Given the description of an element on the screen output the (x, y) to click on. 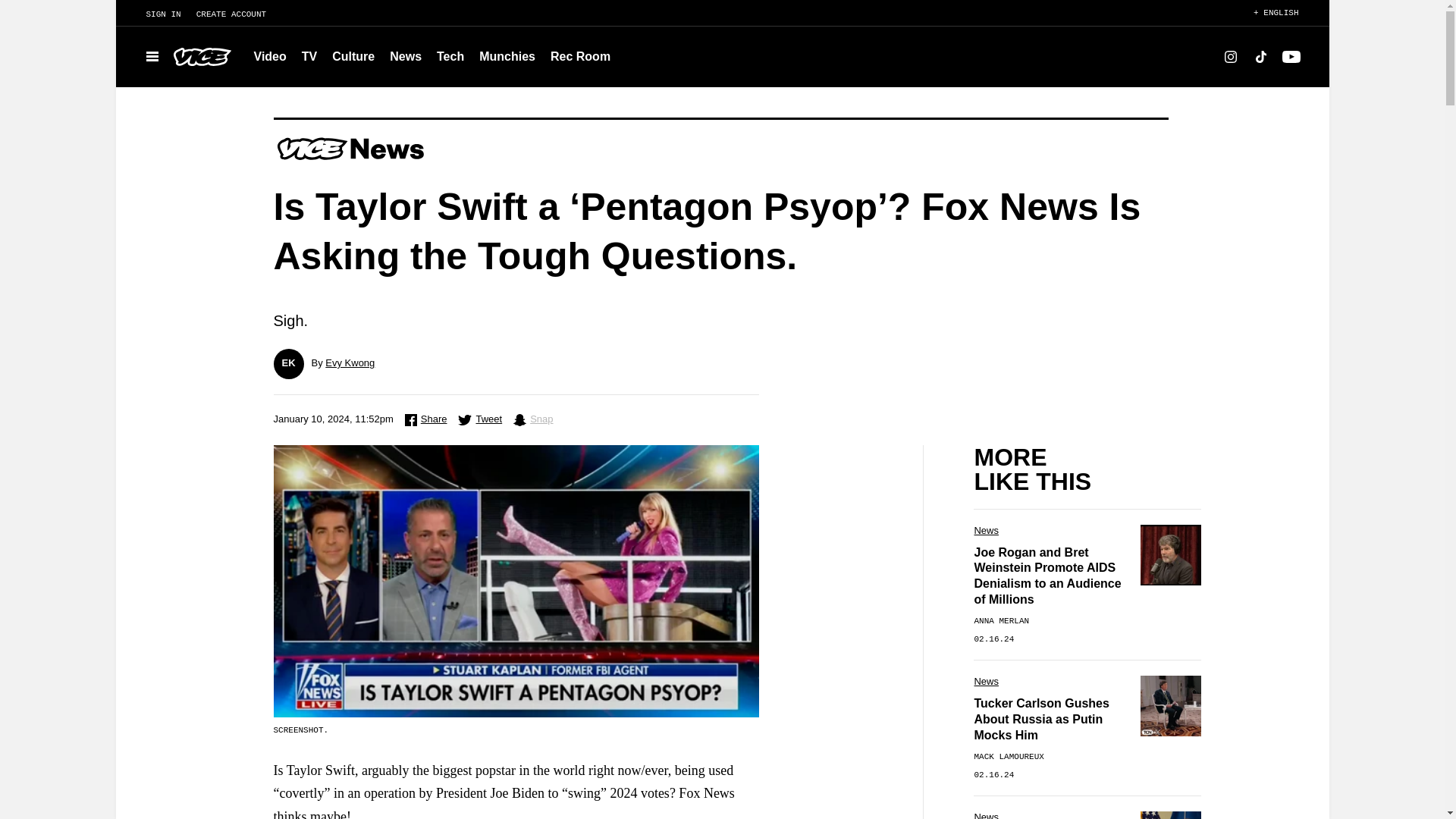
Tech (450, 56)
CREATE ACCOUNT (238, 13)
Munchies (507, 56)
News (405, 56)
Rec Room (580, 56)
Culture (352, 56)
TV (309, 56)
SIGN IN (155, 13)
Video (270, 56)
Share on Snapchat (533, 419)
